Given the description of an element on the screen output the (x, y) to click on. 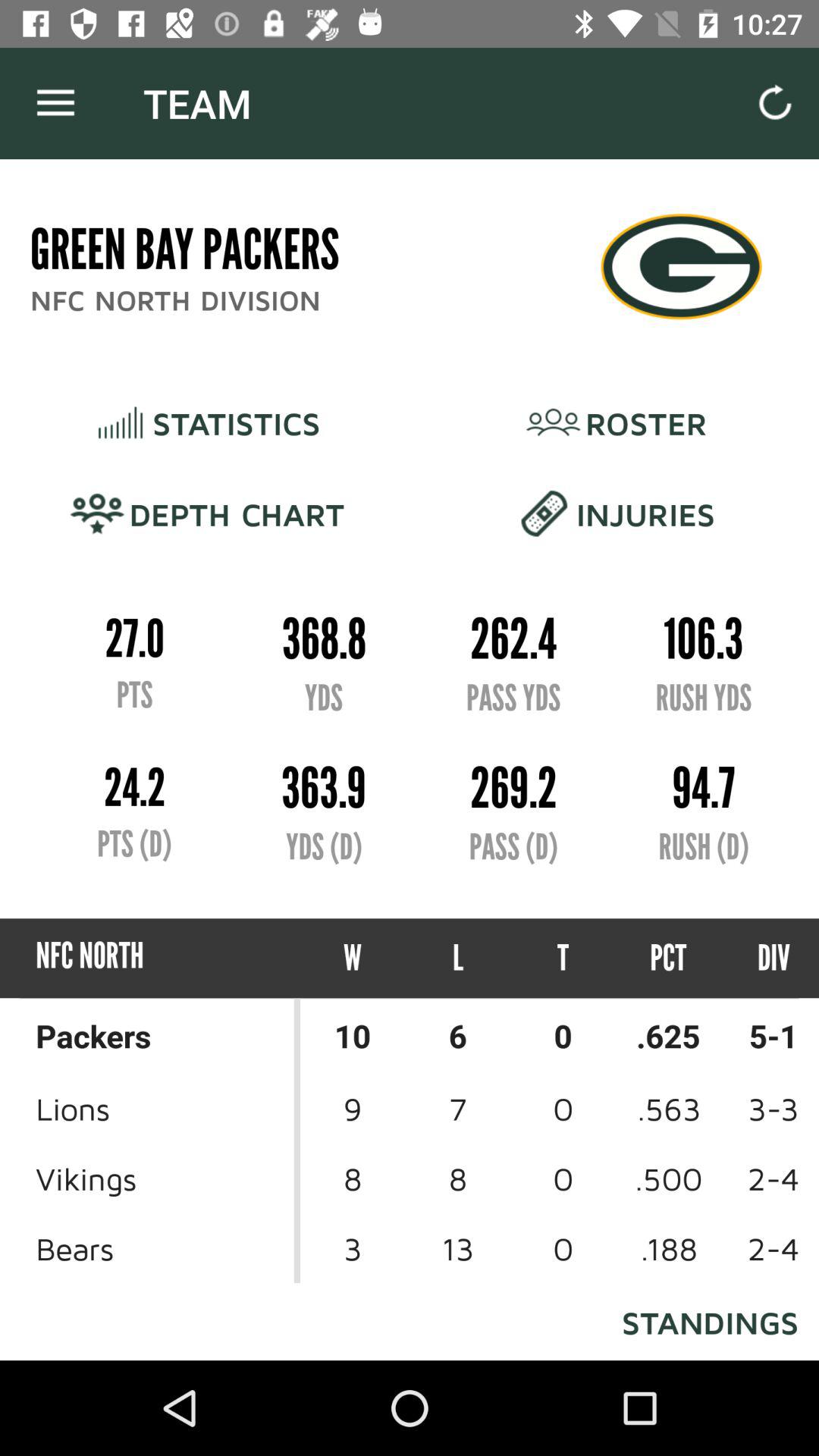
launch the icon next to l item (352, 958)
